Given the description of an element on the screen output the (x, y) to click on. 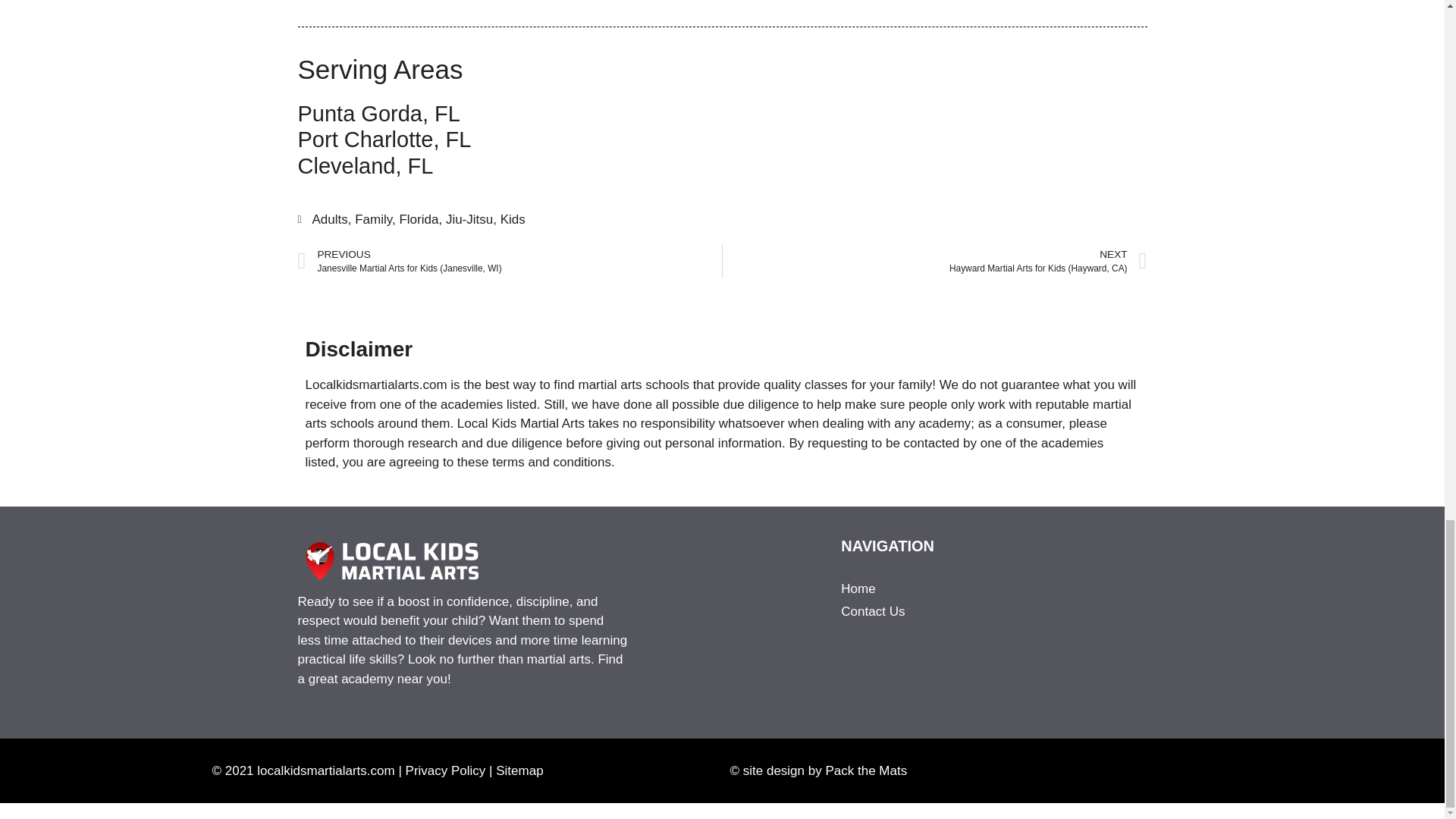
Kids (512, 219)
Jiu-Jitsu (469, 219)
Home (930, 589)
Family (373, 219)
Contact Us (930, 611)
Adults (330, 219)
Florida (418, 219)
